Given the description of an element on the screen output the (x, y) to click on. 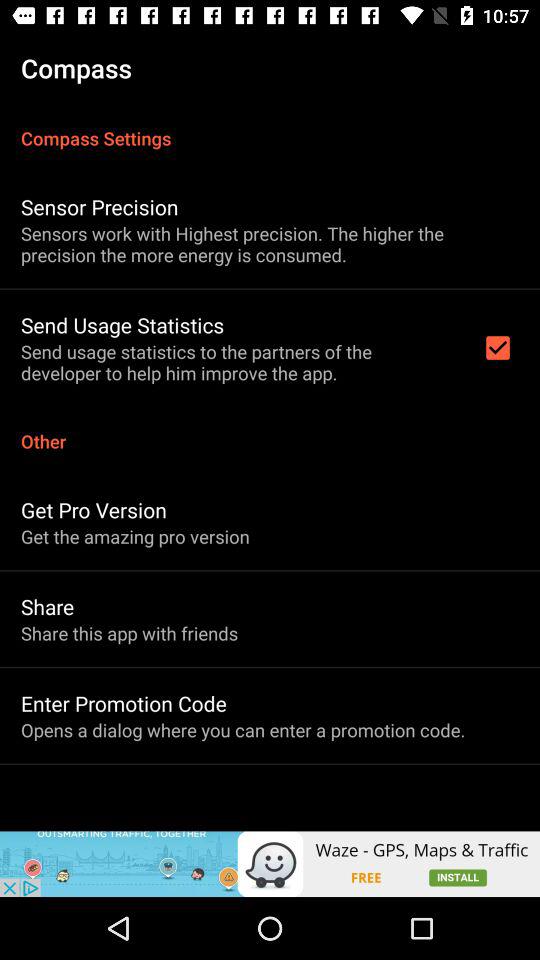
select item above the sensor precision item (270, 127)
